Given the description of an element on the screen output the (x, y) to click on. 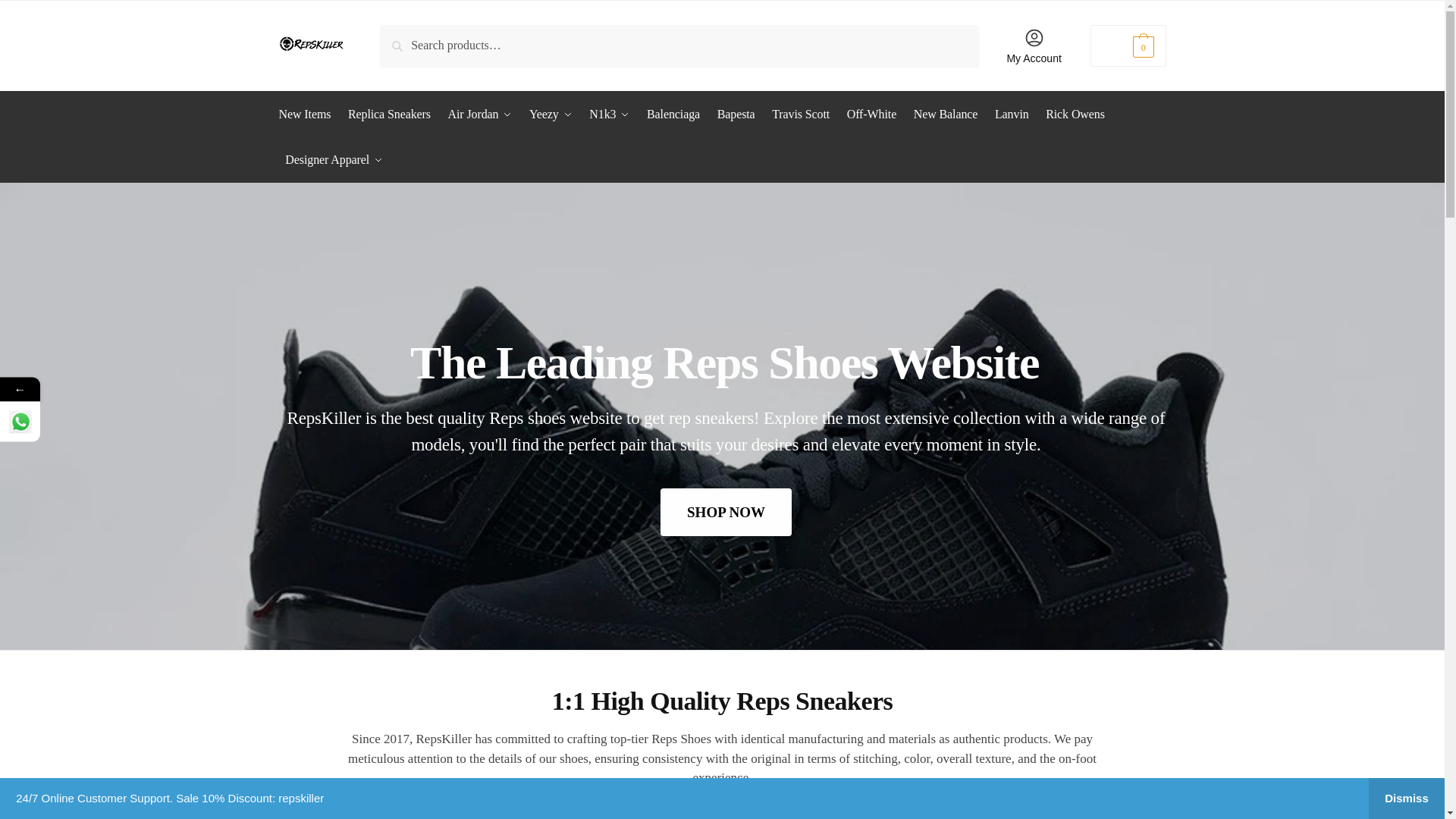
Air Jordan (480, 114)
Search (401, 35)
My Account (1033, 45)
N1k3 (610, 114)
New Items (308, 114)
Replica Sneakers (389, 114)
View your shopping cart (1128, 45)
Yeezy (550, 114)
